Given the description of an element on the screen output the (x, y) to click on. 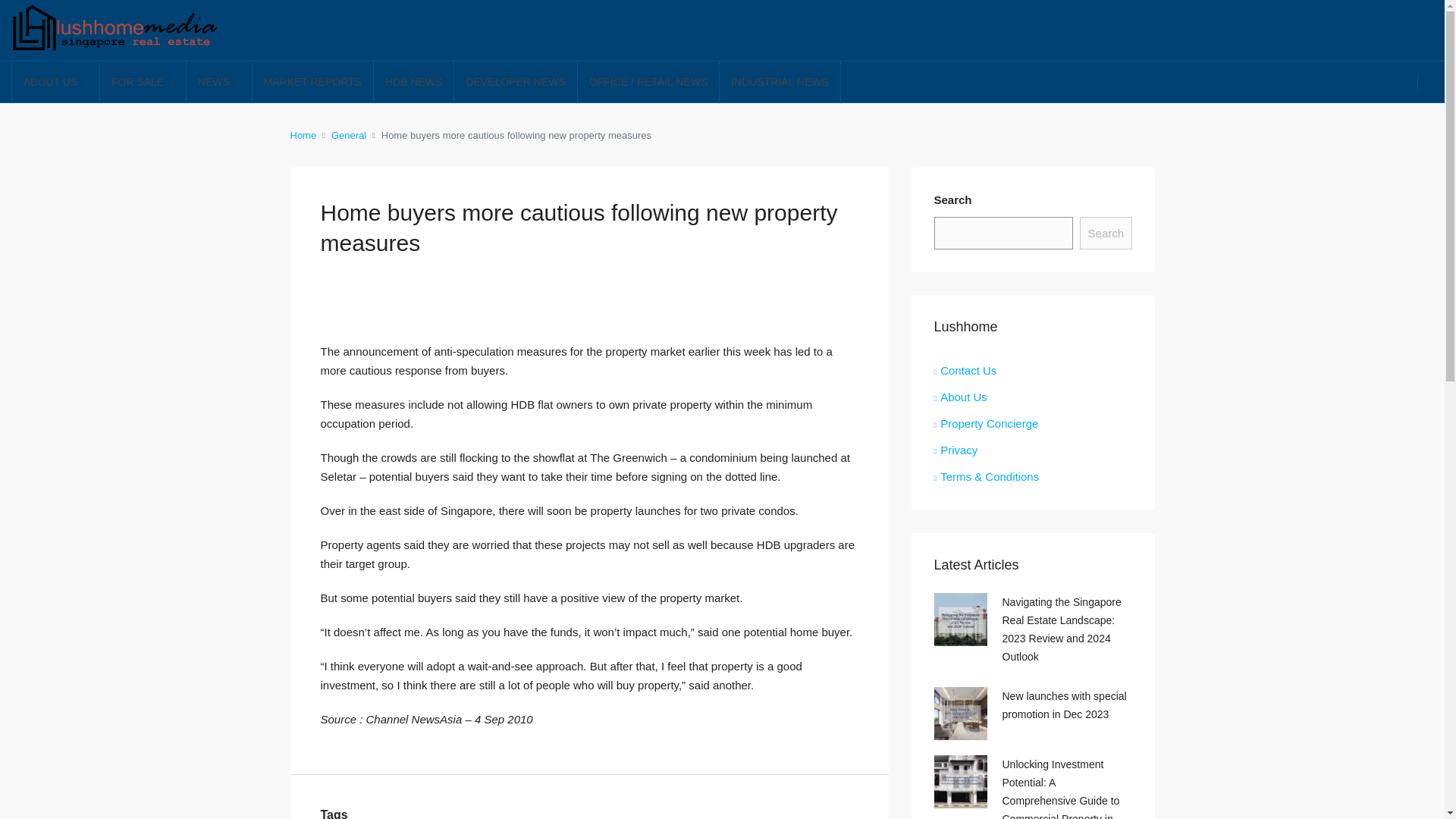
FOR SALE (143, 82)
ABOUT US (55, 82)
